Given the description of an element on the screen output the (x, y) to click on. 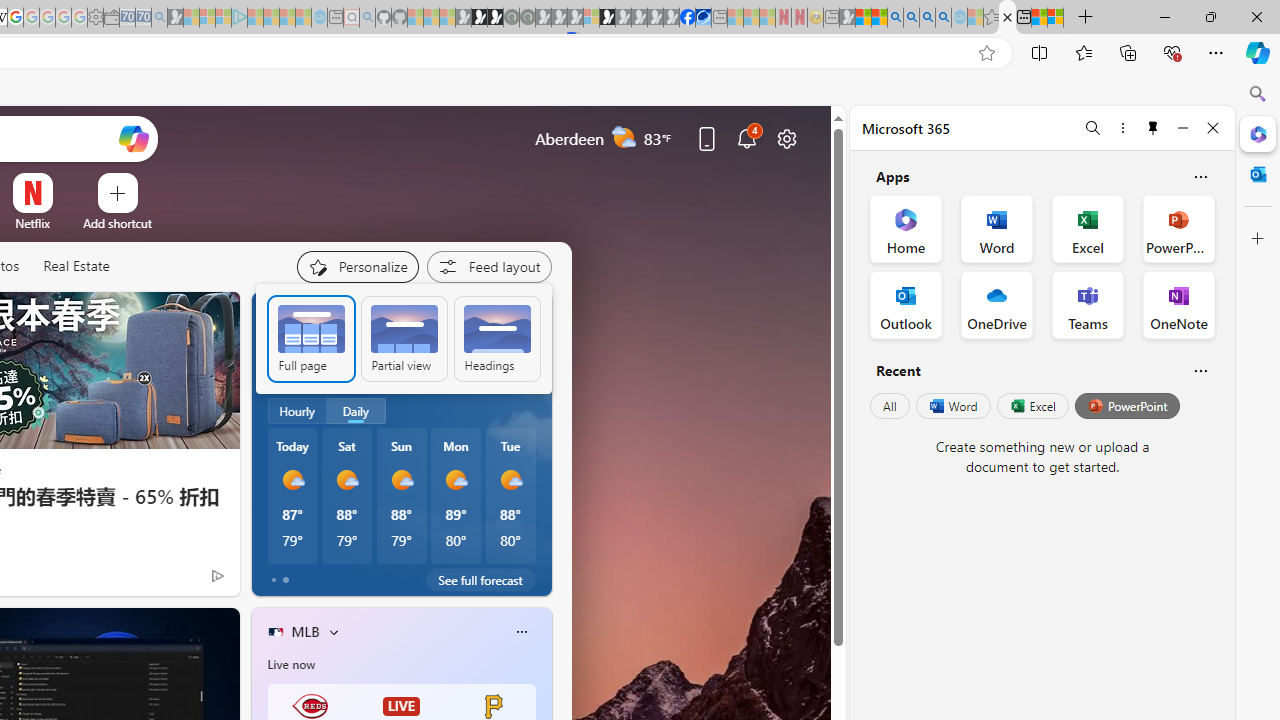
Google Chrome Internet Browser Download - Search Images (943, 17)
Hourly (296, 411)
MSN - Sleeping (847, 17)
Wallet - Sleeping (111, 17)
More interests (333, 631)
Bing Real Estate - Home sales and rental listings - Sleeping (159, 17)
Future Focus Report 2024 - Sleeping (527, 17)
Personalize your feed" (356, 266)
Notifications (746, 138)
Word Office App (996, 228)
MLB (305, 631)
